Given the description of an element on the screen output the (x, y) to click on. 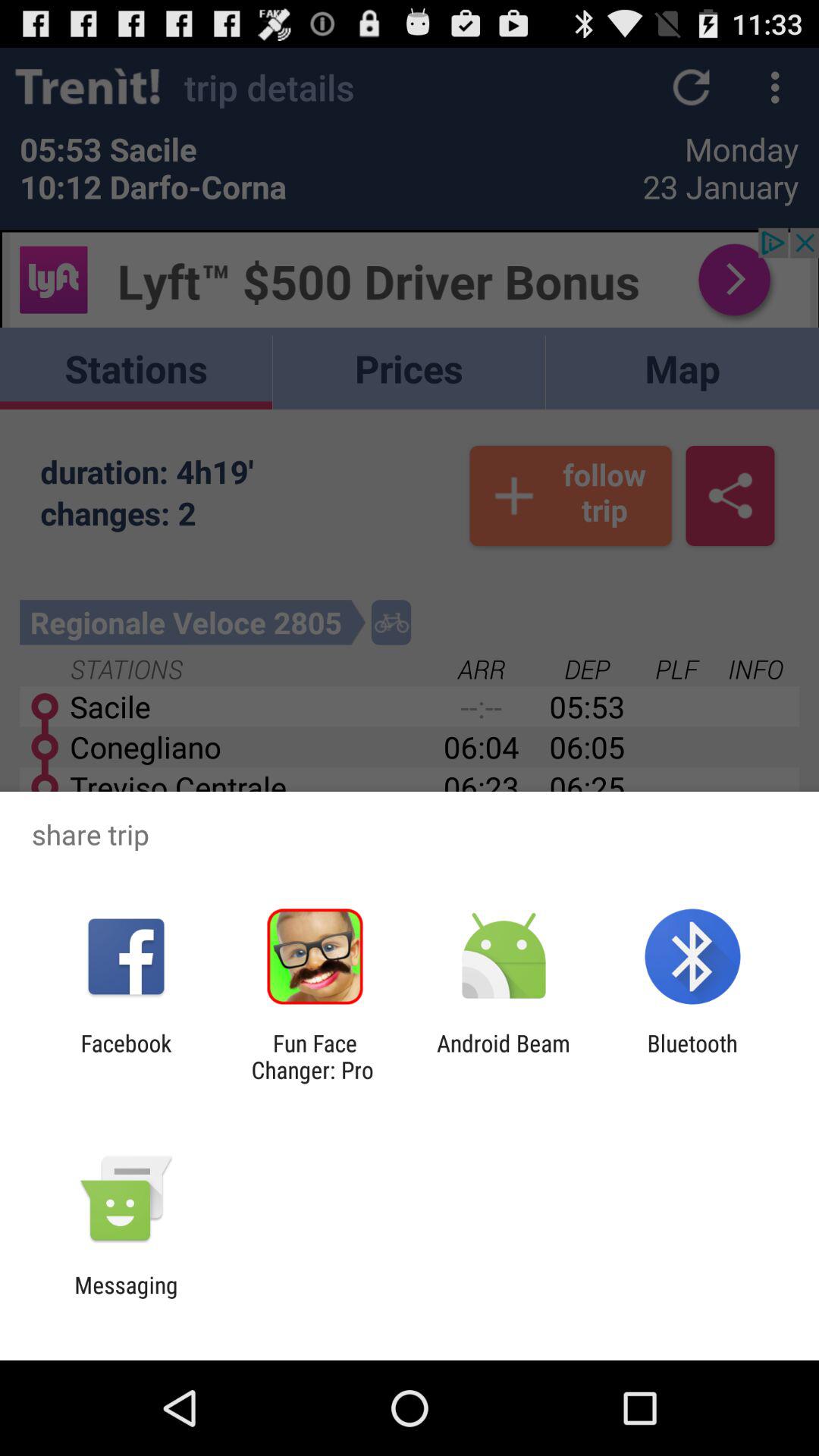
press item next to the facebook (314, 1056)
